Given the description of an element on the screen output the (x, y) to click on. 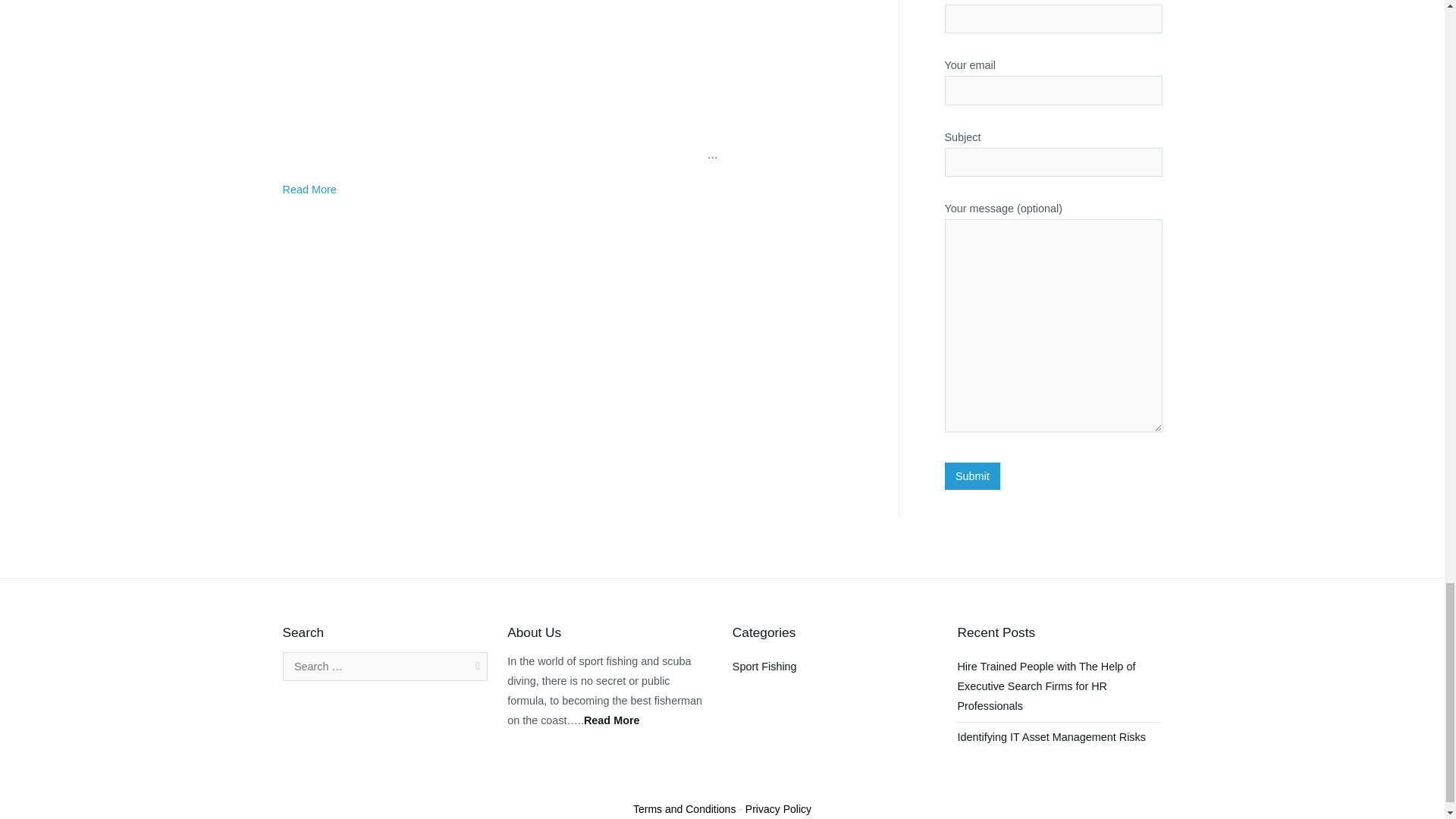
YouTube video player (494, 79)
Read More (309, 189)
Read More (611, 720)
Submit (972, 475)
Submit (972, 475)
